Given the description of an element on the screen output the (x, y) to click on. 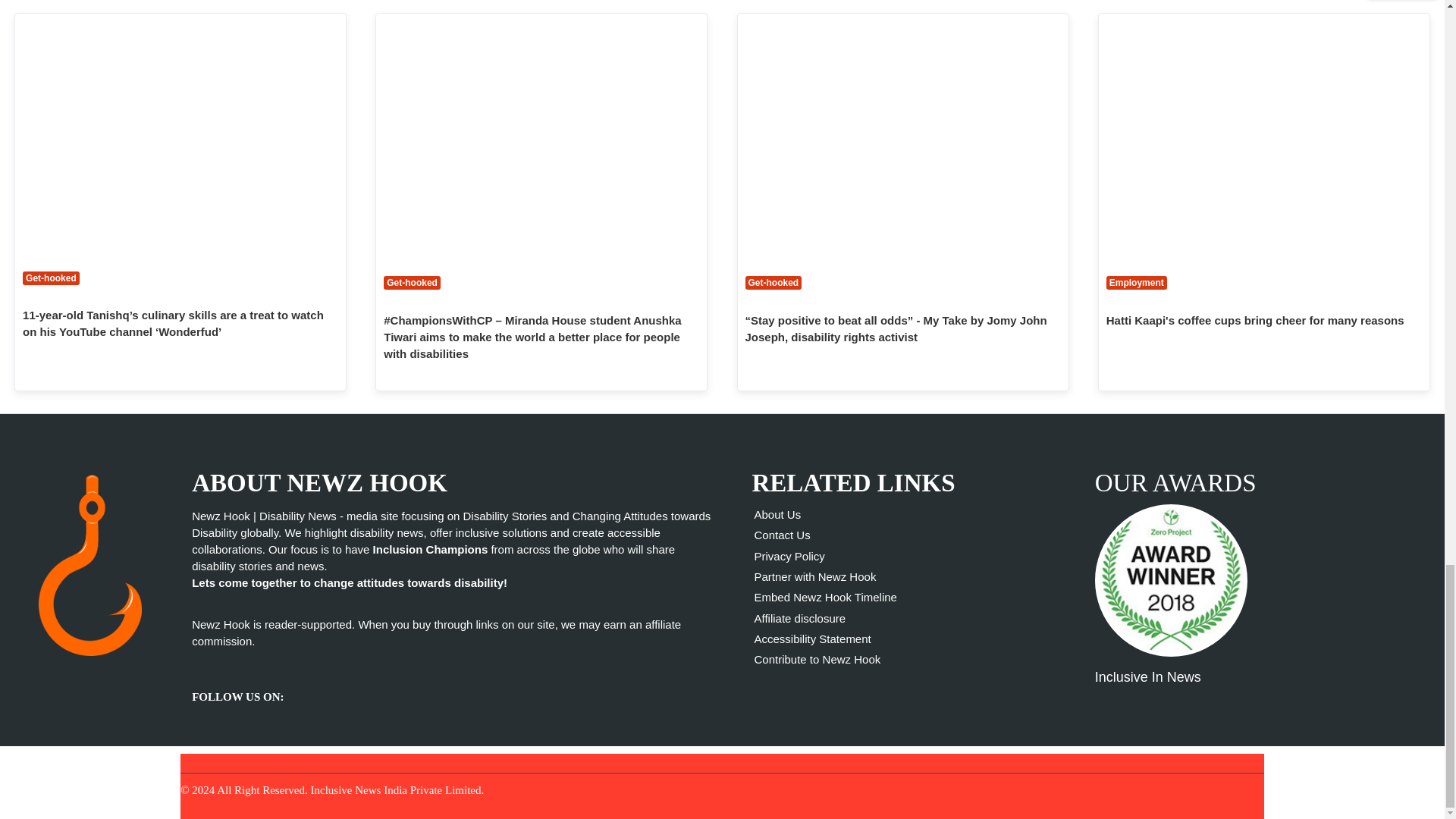
Newz Hook on Facebook (329, 685)
Newz Hook on Twitter (298, 685)
Hatti Kaapis coffee cups bring cheer for many reasons (1264, 137)
